Given the description of an element on the screen output the (x, y) to click on. 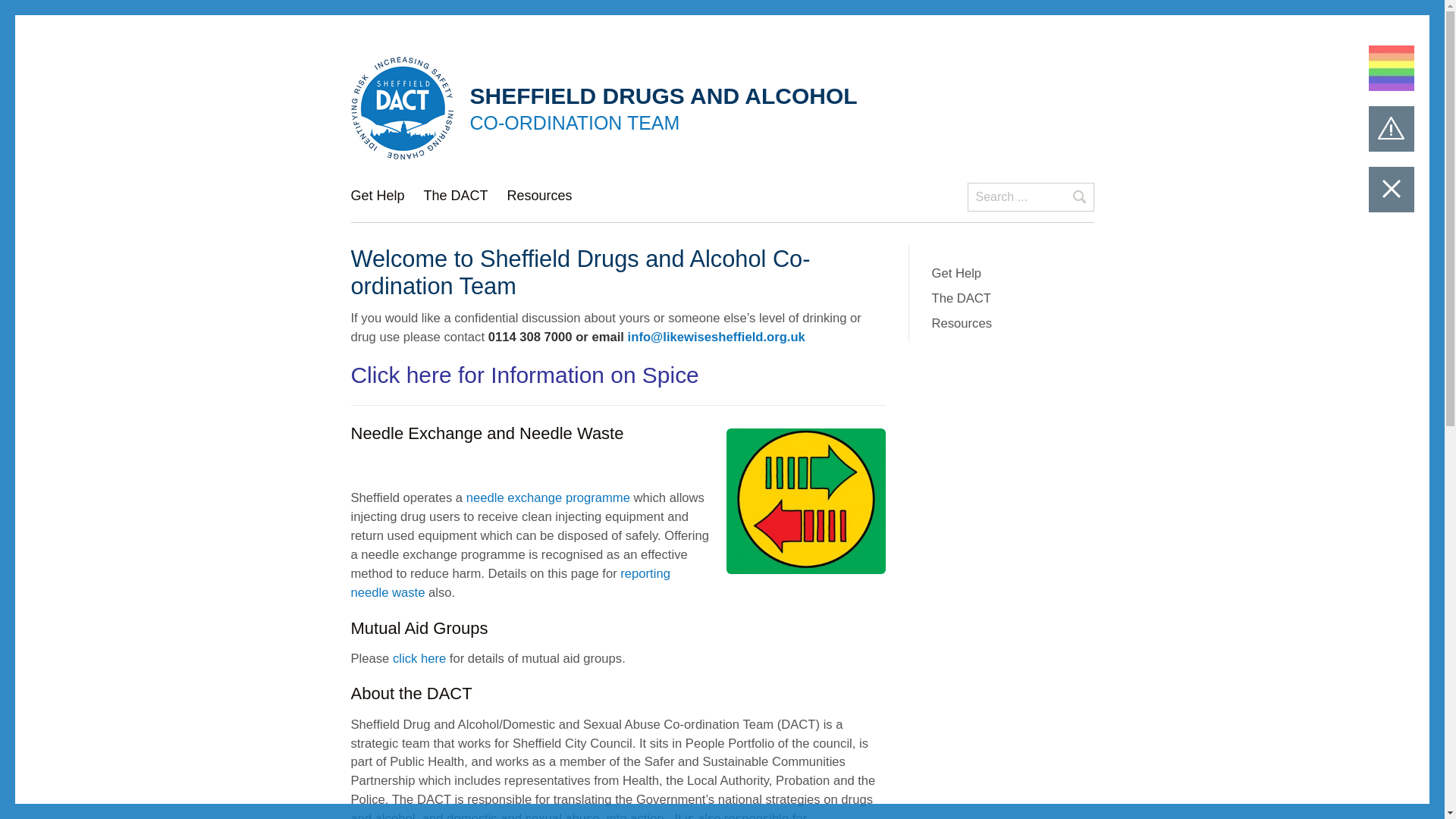
Resources (539, 204)
click here (419, 658)
Mutual Aid Support Groups for Drugs and Alcohol (419, 658)
needle exchange programme (547, 497)
reporting needle waste (509, 582)
Help and support (377, 204)
Get Help (377, 204)
Click here for Information on Spice (524, 374)
Needle Exchanges (547, 497)
The DACT (455, 204)
